Given the description of an element on the screen output the (x, y) to click on. 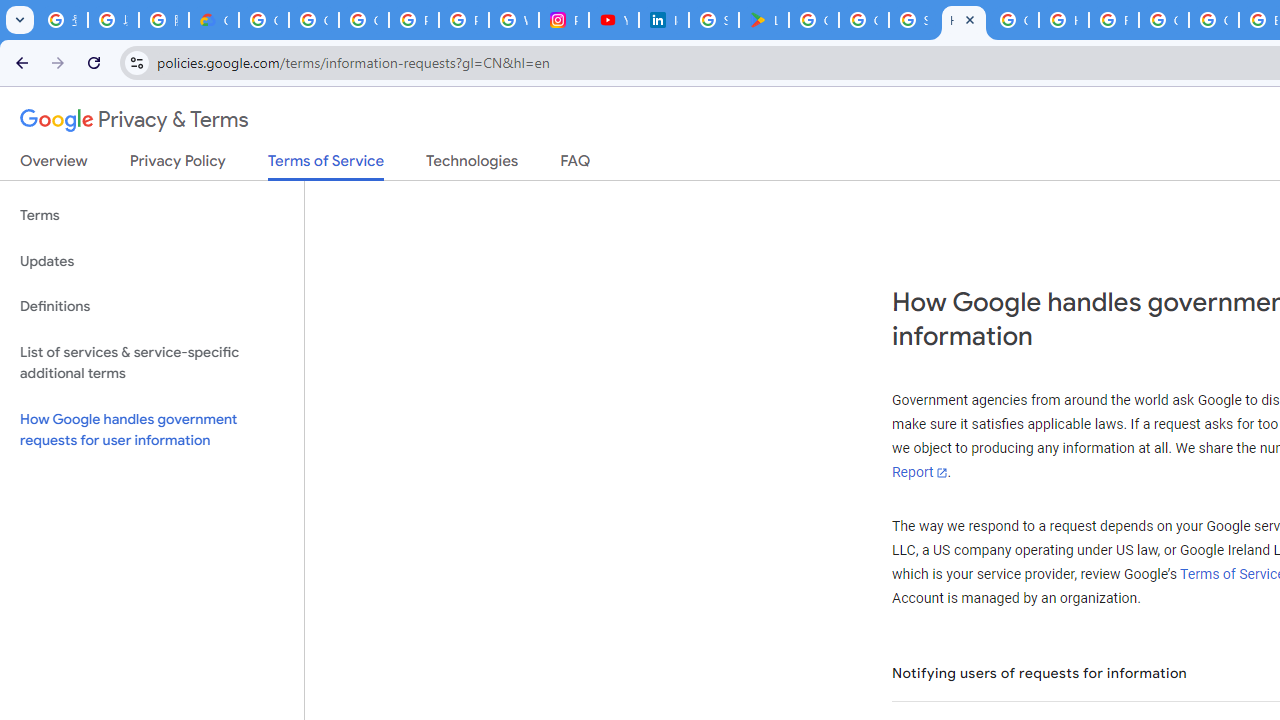
Google Workspace - Specific Terms (863, 20)
How do I create a new Google Account? - Google Account Help (1064, 20)
